Given the description of an element on the screen output the (x, y) to click on. 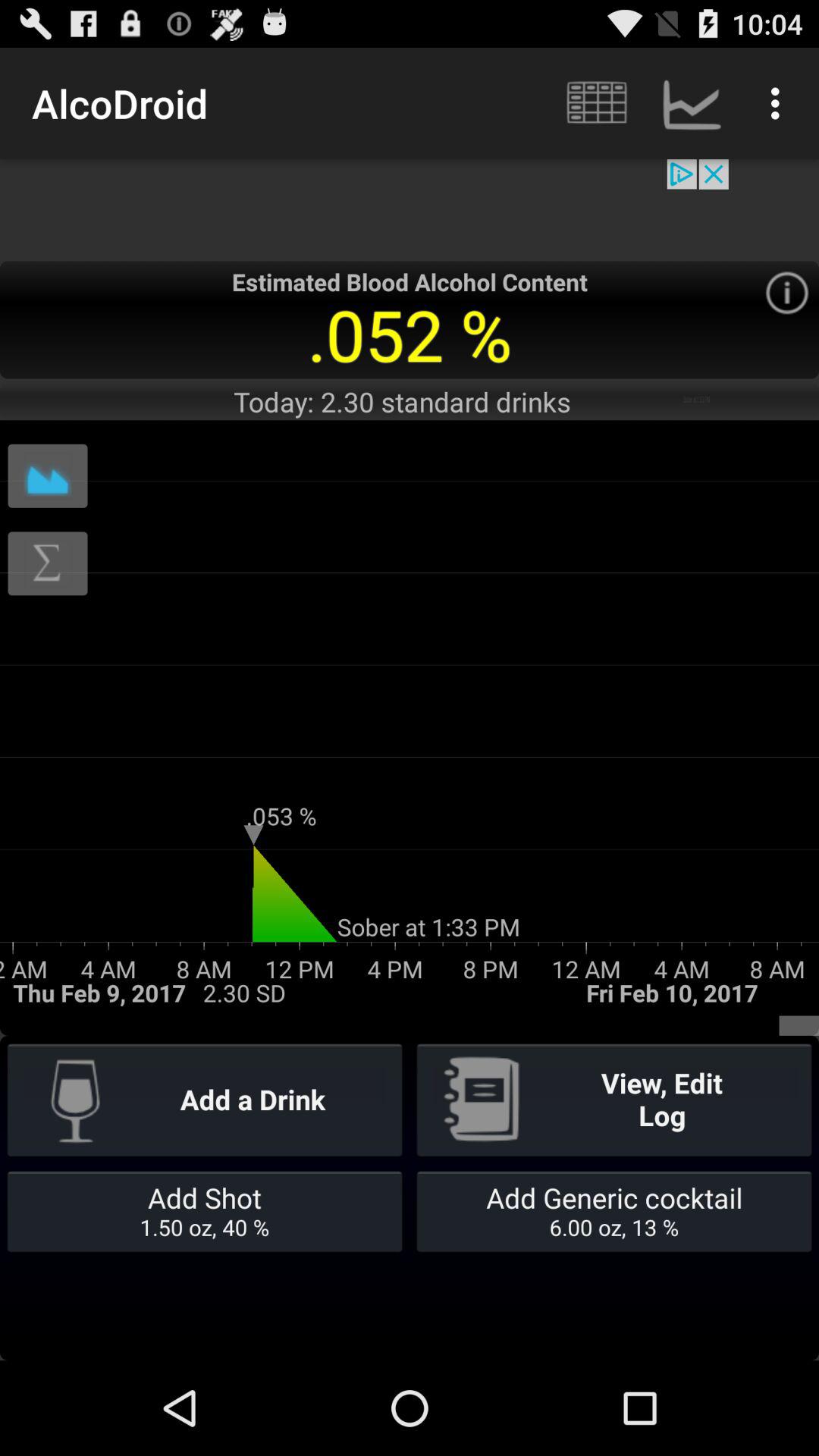
information (787, 292)
